Given the description of an element on the screen output the (x, y) to click on. 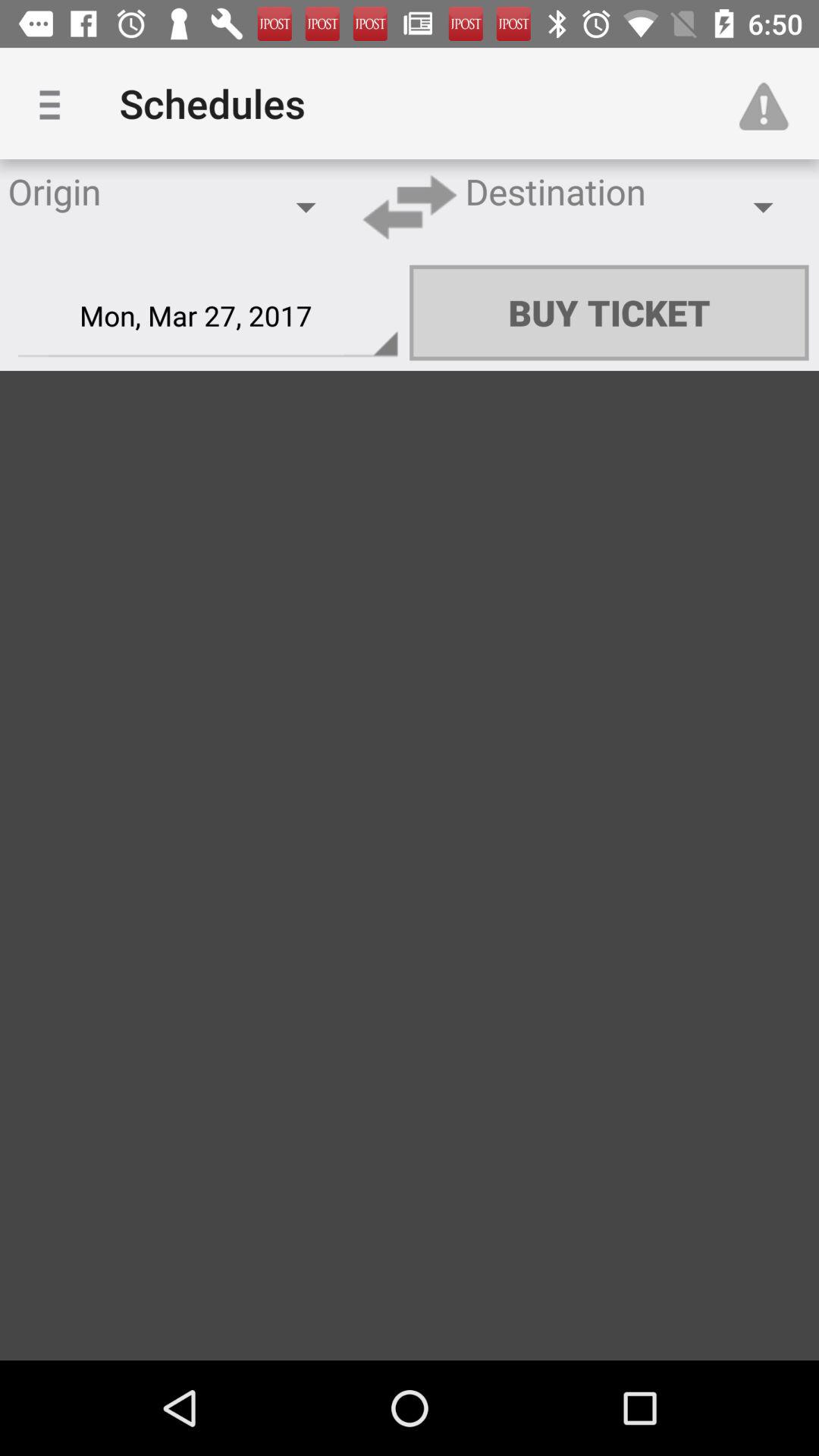
launch icon to the right of the mon mar 27 item (608, 312)
